Given the description of an element on the screen output the (x, y) to click on. 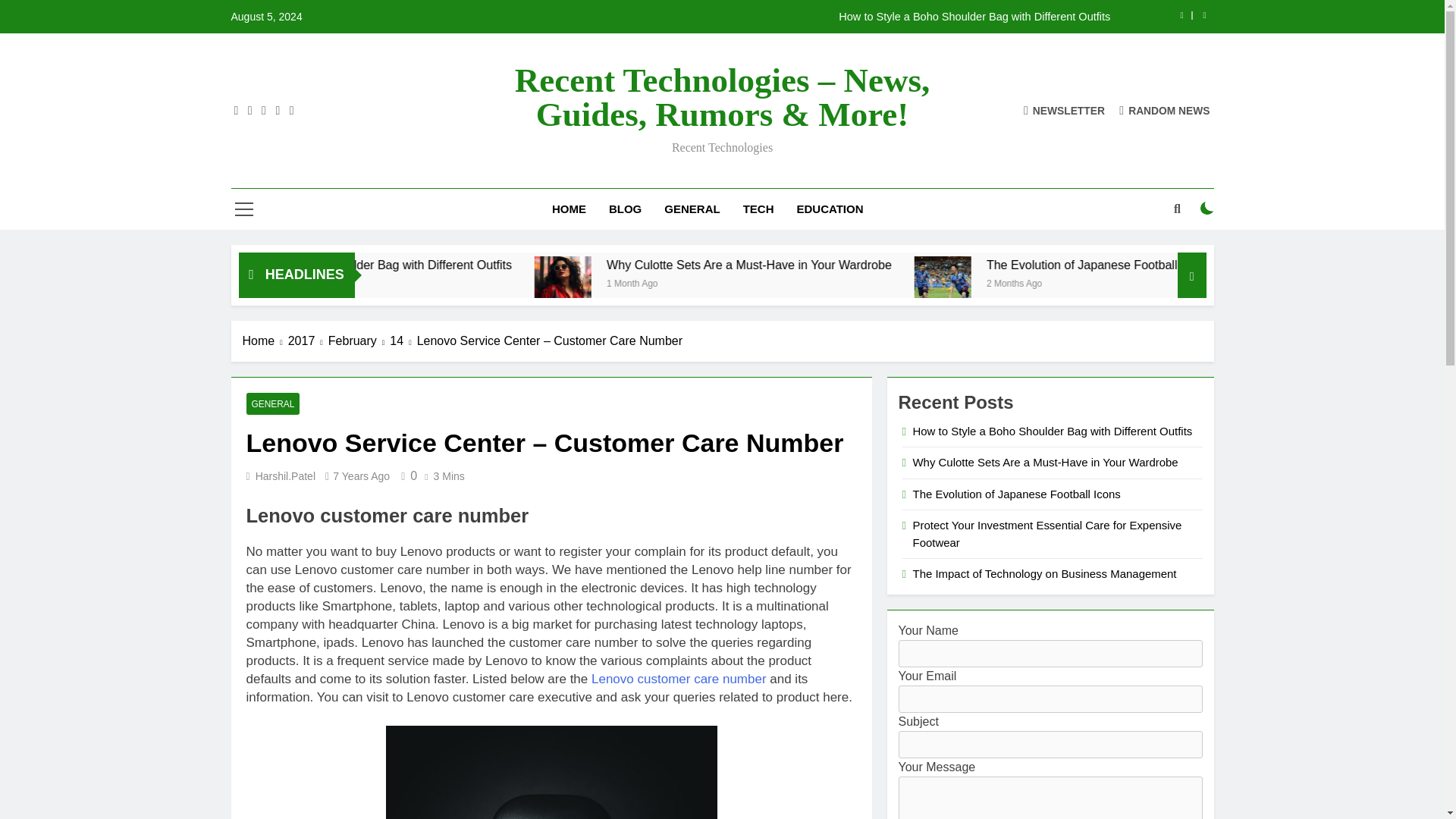
HOME (568, 209)
Why Culotte Sets Are a Must-Have in Your Wardrobe (922, 264)
How to Style a Boho Shoulder Bag with Different Outfits (817, 16)
on (1206, 208)
How to Style a Boho Shoulder Bag with Different Outfits (817, 16)
How to Style a Boho Shoulder Bag with Different Outfits (513, 264)
BLOG (624, 209)
1 Month Ago (803, 282)
RANDOM NEWS (1164, 110)
The Evolution of Japanese Football Icons (1267, 264)
How to Style a Boho Shoulder Bag with Different Outfits (541, 264)
TECH (759, 209)
Why Culotte Sets Are a Must-Have in Your Wardrobe (709, 284)
2 Weeks Ago (417, 282)
GENERAL (691, 209)
